Given the description of an element on the screen output the (x, y) to click on. 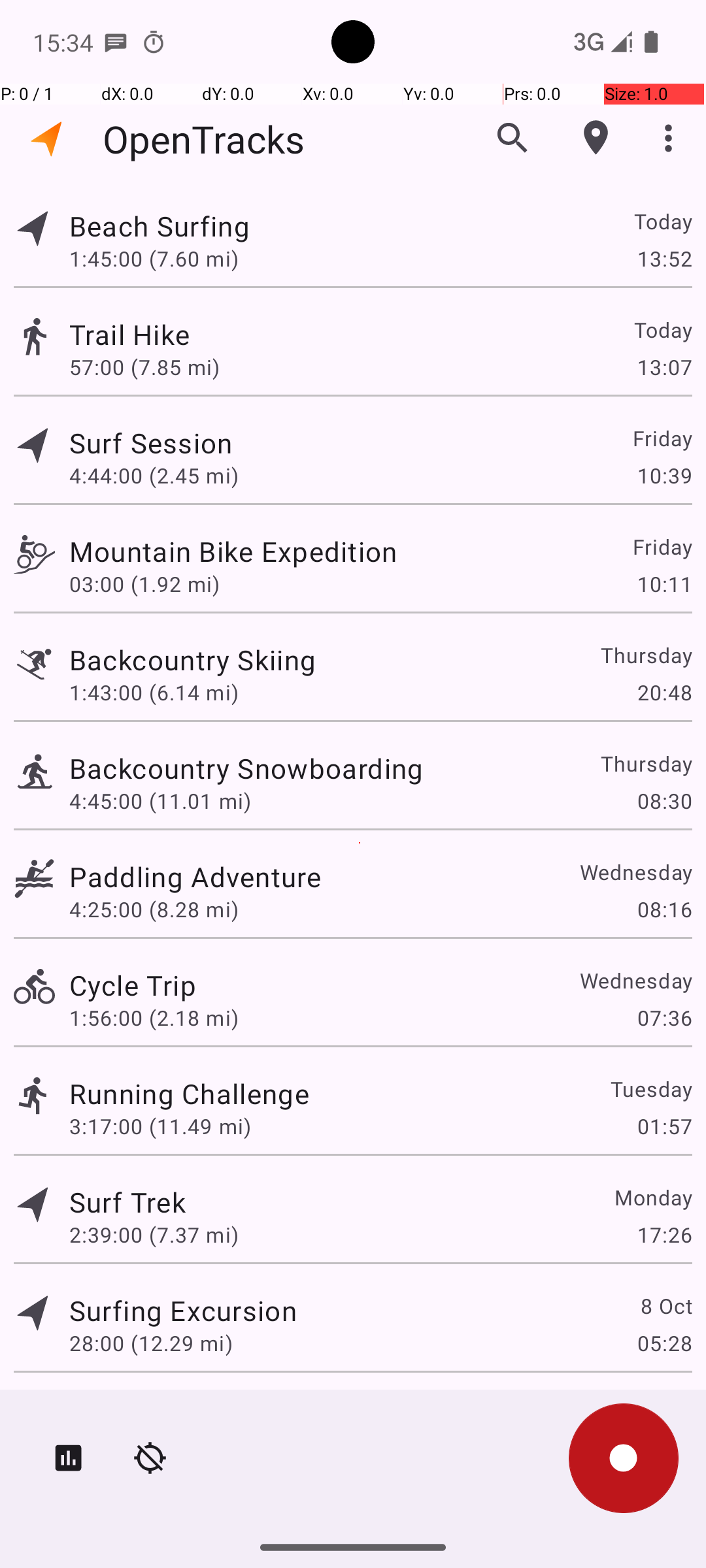
Beach Surfing Element type: android.widget.TextView (159, 225)
1:45:00 (7.60 mi) Element type: android.widget.TextView (153, 258)
13:52 Element type: android.widget.TextView (664, 258)
Trail Hike Element type: android.widget.TextView (129, 333)
57:00 (7.85 mi) Element type: android.widget.TextView (144, 366)
13:07 Element type: android.widget.TextView (664, 366)
Surf Session Element type: android.widget.TextView (150, 442)
4:44:00 (2.45 mi) Element type: android.widget.TextView (153, 475)
10:39 Element type: android.widget.TextView (664, 475)
Mountain Bike Expedition Element type: android.widget.TextView (233, 550)
03:00 (1.92 mi) Element type: android.widget.TextView (144, 583)
10:11 Element type: android.widget.TextView (664, 583)
Backcountry Skiing Element type: android.widget.TextView (192, 659)
1:43:00 (6.14 mi) Element type: android.widget.TextView (153, 692)
20:48 Element type: android.widget.TextView (664, 692)
Backcountry Snowboarding Element type: android.widget.TextView (246, 767)
4:45:00 (11.01 mi) Element type: android.widget.TextView (159, 800)
Paddling Adventure Element type: android.widget.TextView (194, 876)
4:25:00 (8.28 mi) Element type: android.widget.TextView (153, 909)
08:16 Element type: android.widget.TextView (664, 909)
1:56:00 (2.18 mi) Element type: android.widget.TextView (153, 1017)
07:36 Element type: android.widget.TextView (664, 1017)
Running Challenge Element type: android.widget.TextView (188, 1092)
3:17:00 (11.49 mi) Element type: android.widget.TextView (159, 1125)
01:57 Element type: android.widget.TextView (664, 1125)
Surf Trek Element type: android.widget.TextView (127, 1201)
2:39:00 (7.37 mi) Element type: android.widget.TextView (153, 1234)
17:26 Element type: android.widget.TextView (664, 1234)
Surfing Excursion Element type: android.widget.TextView (182, 1309)
28:00 (12.29 mi) Element type: android.widget.TextView (150, 1342)
05:28 Element type: android.widget.TextView (664, 1342)
Skateboard Ride Element type: android.widget.TextView (174, 1408)
